Given the description of an element on the screen output the (x, y) to click on. 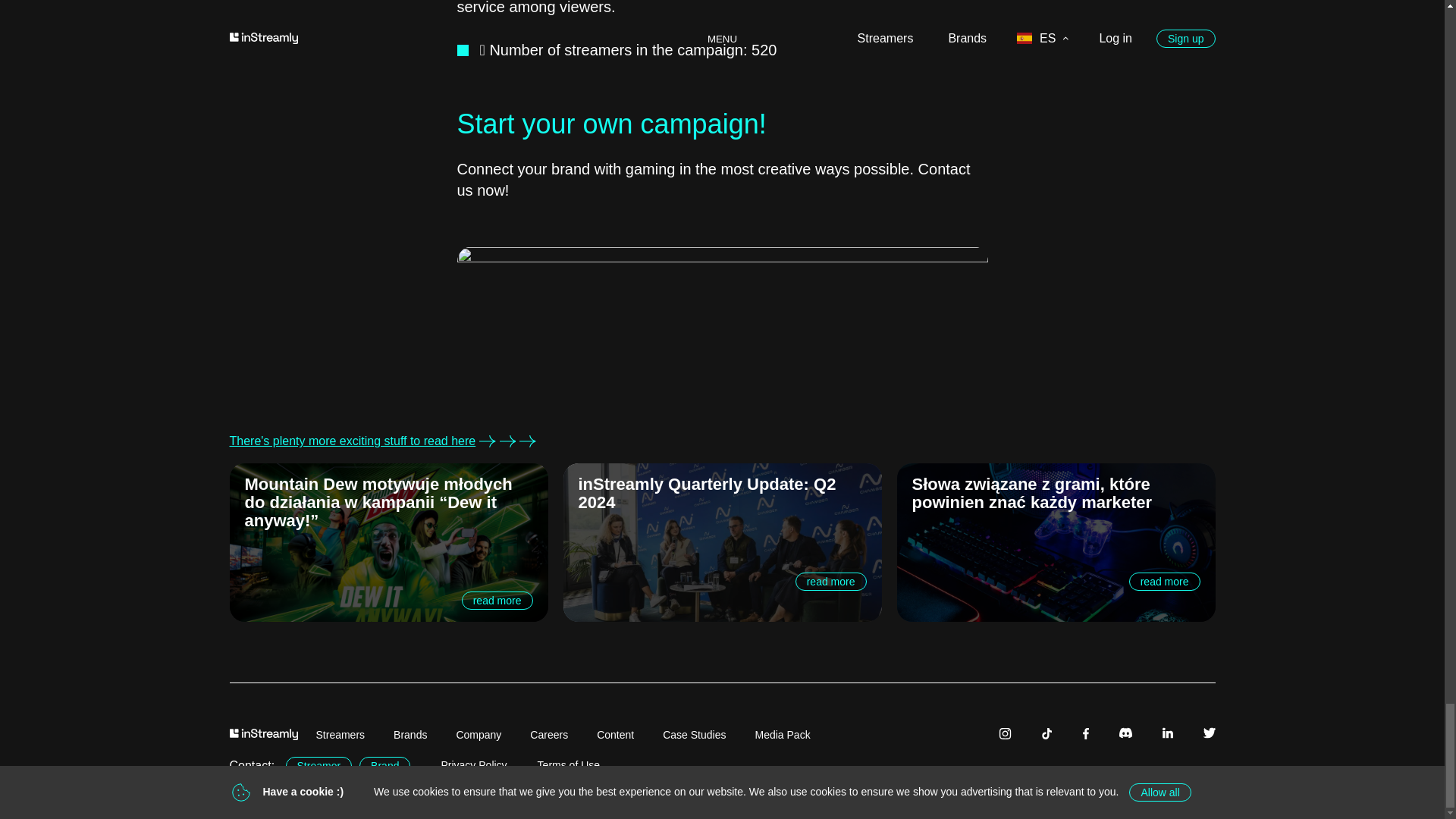
Company (478, 734)
Streamer (318, 766)
There's plenty more exciting stuff to read here (721, 440)
Careers (548, 734)
read more (722, 581)
Media Pack (782, 734)
Brand (384, 765)
read more (388, 600)
inStreamly Quarterly Update: Q2 2024 (722, 493)
Streamers (339, 734)
